Given the description of an element on the screen output the (x, y) to click on. 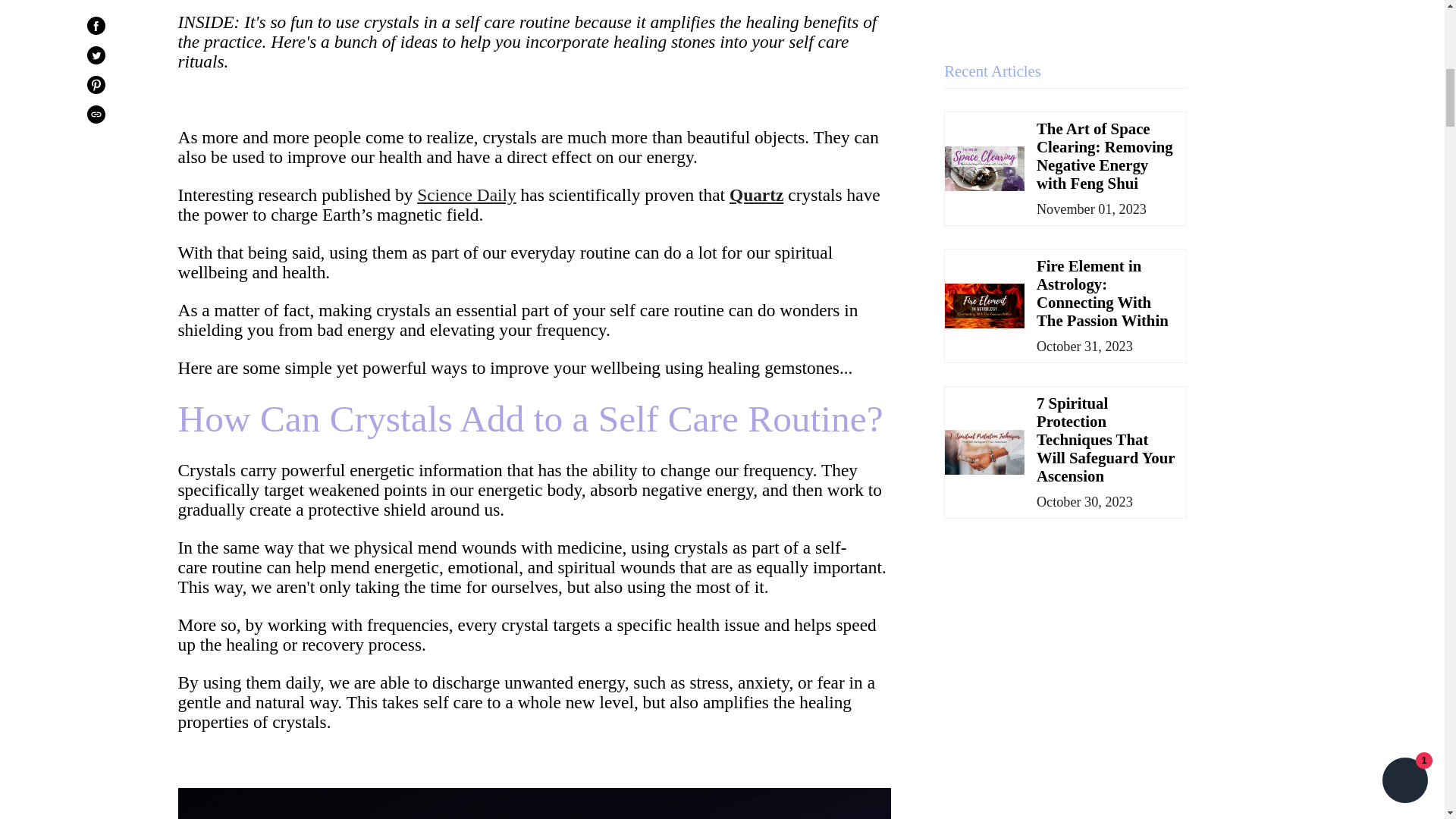
Quartz (756, 194)
Amethyst Geodes (534, 803)
